Given the description of an element on the screen output the (x, y) to click on. 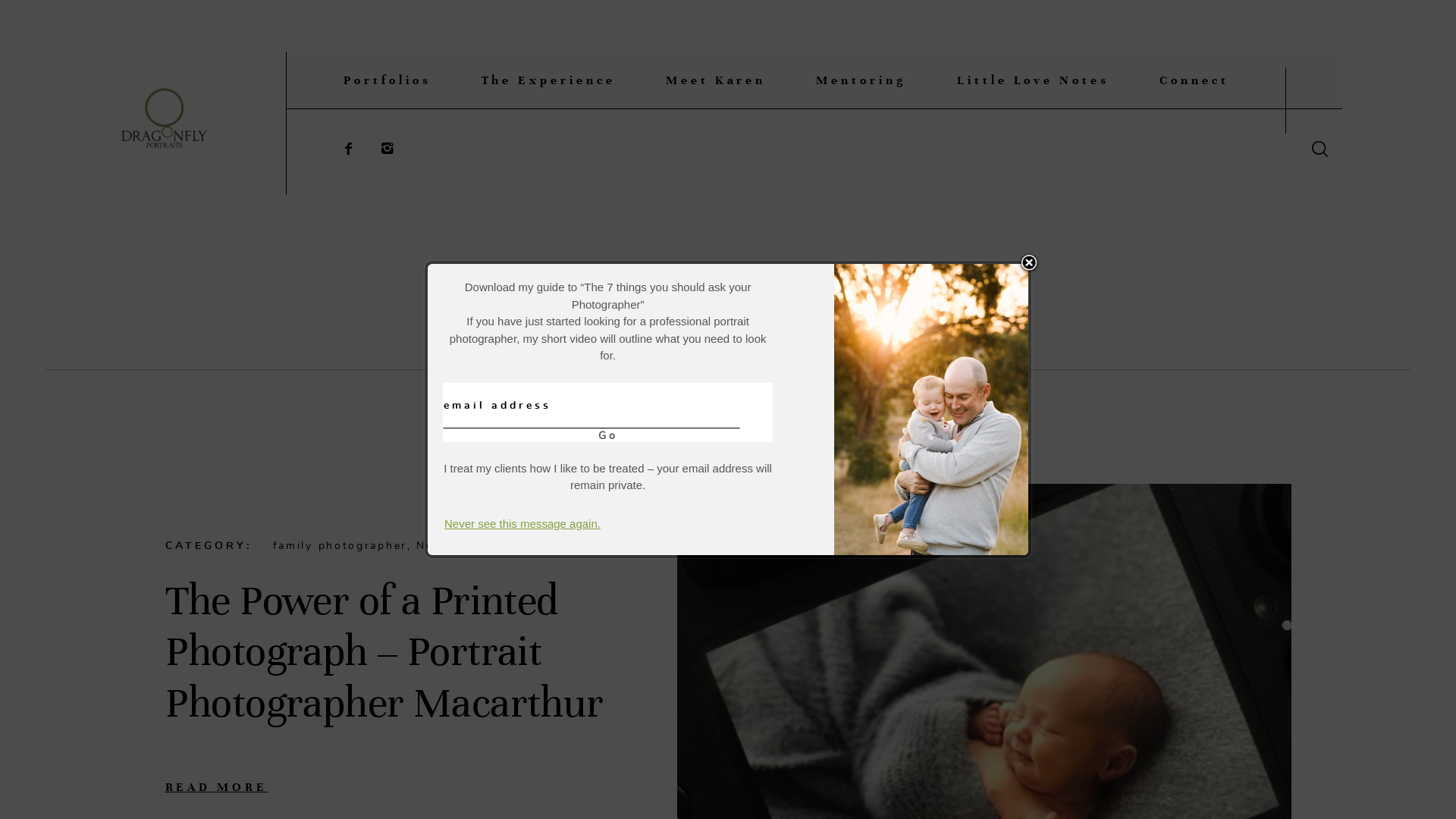
Portfolios Element type: text (387, 78)
Newborn Element type: text (445, 545)
Go Element type: text (607, 435)
Mentoring Element type: text (860, 78)
Never see this message again. Element type: text (522, 523)
Little Love Notes Element type: text (1033, 78)
Meet Karen Element type: text (715, 78)
Close this box Element type: hover (1028, 262)
family photographer Element type: text (340, 545)
The Experience Element type: text (547, 78)
Connect Element type: text (1194, 78)
